Given the description of an element on the screen output the (x, y) to click on. 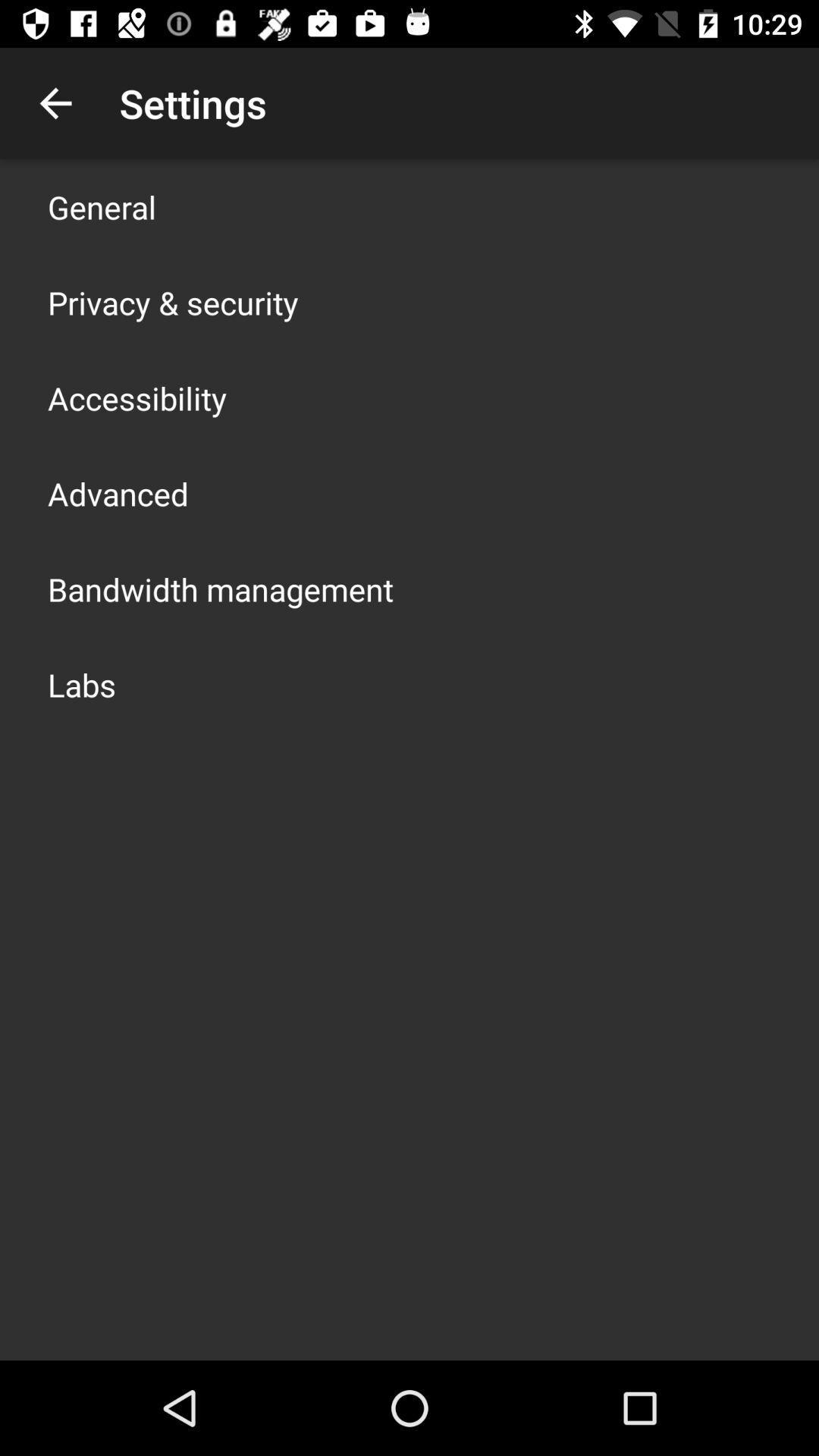
launch app above the bandwidth management item (117, 493)
